Given the description of an element on the screen output the (x, y) to click on. 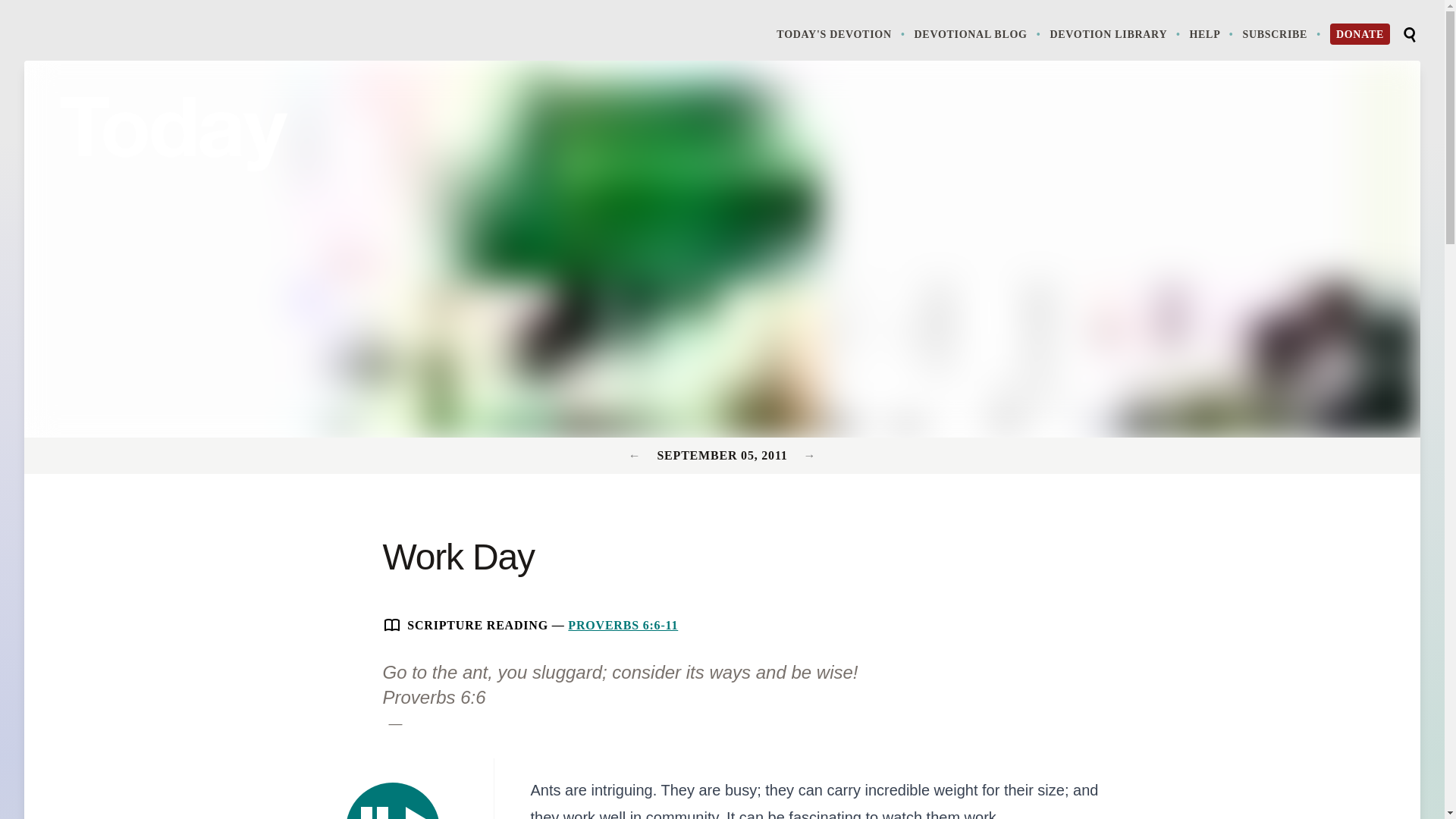
DEVOTION LIBRARY (1115, 34)
Proverbs 6:6 (432, 697)
Previous Devotion: September 04, 2011 (636, 454)
PROVERBS 6:6-11 (622, 625)
Search (1409, 34)
HELP (1212, 34)
DONATE (1360, 34)
TODAY'S DEVOTION (841, 34)
Previous Devotion: September 05, 2011 (809, 454)
DEVOTIONAL BLOG (392, 800)
SUBSCRIBE (978, 34)
